Given the description of an element on the screen output the (x, y) to click on. 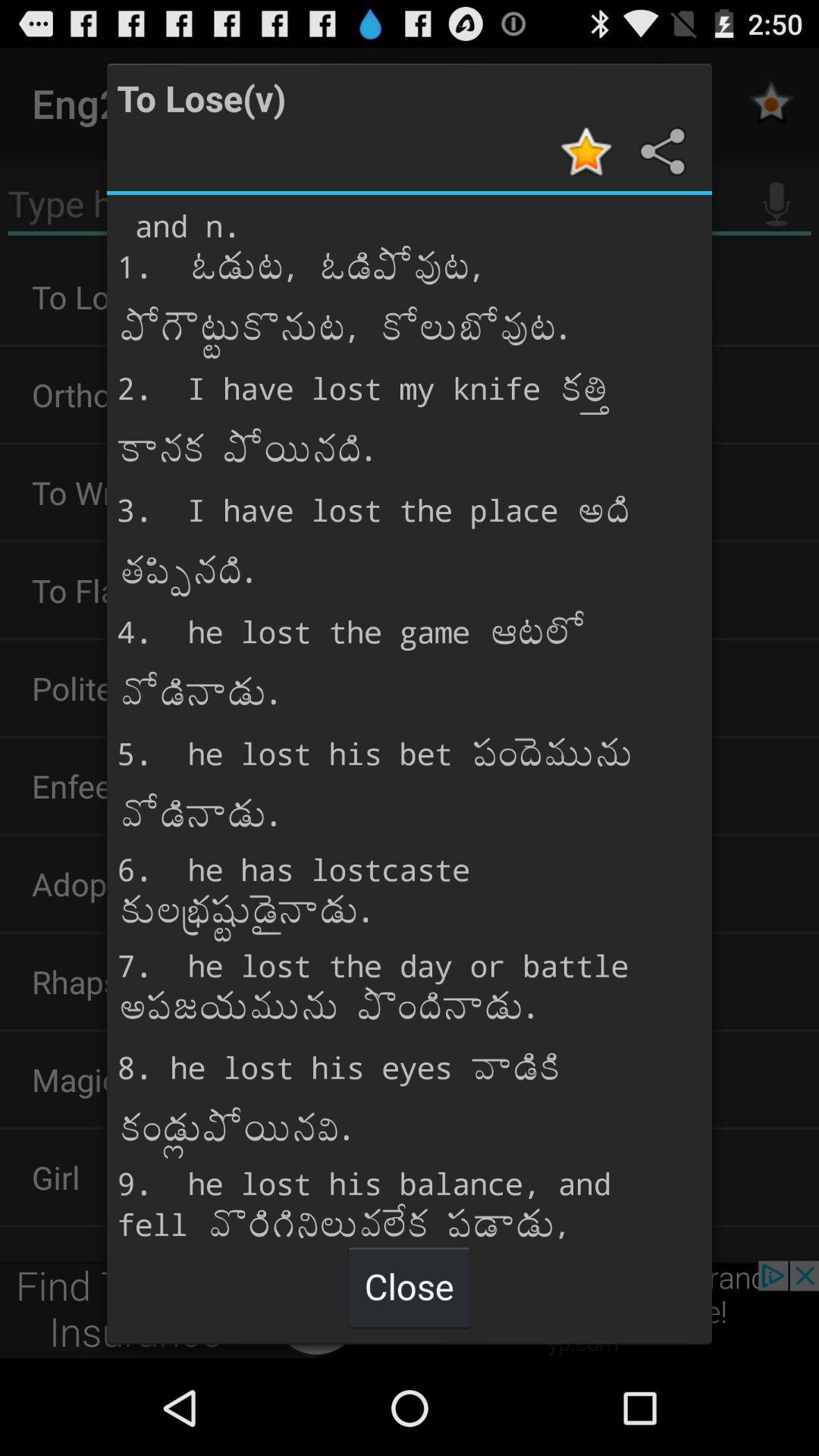
share information (660, 151)
